Given the description of an element on the screen output the (x, y) to click on. 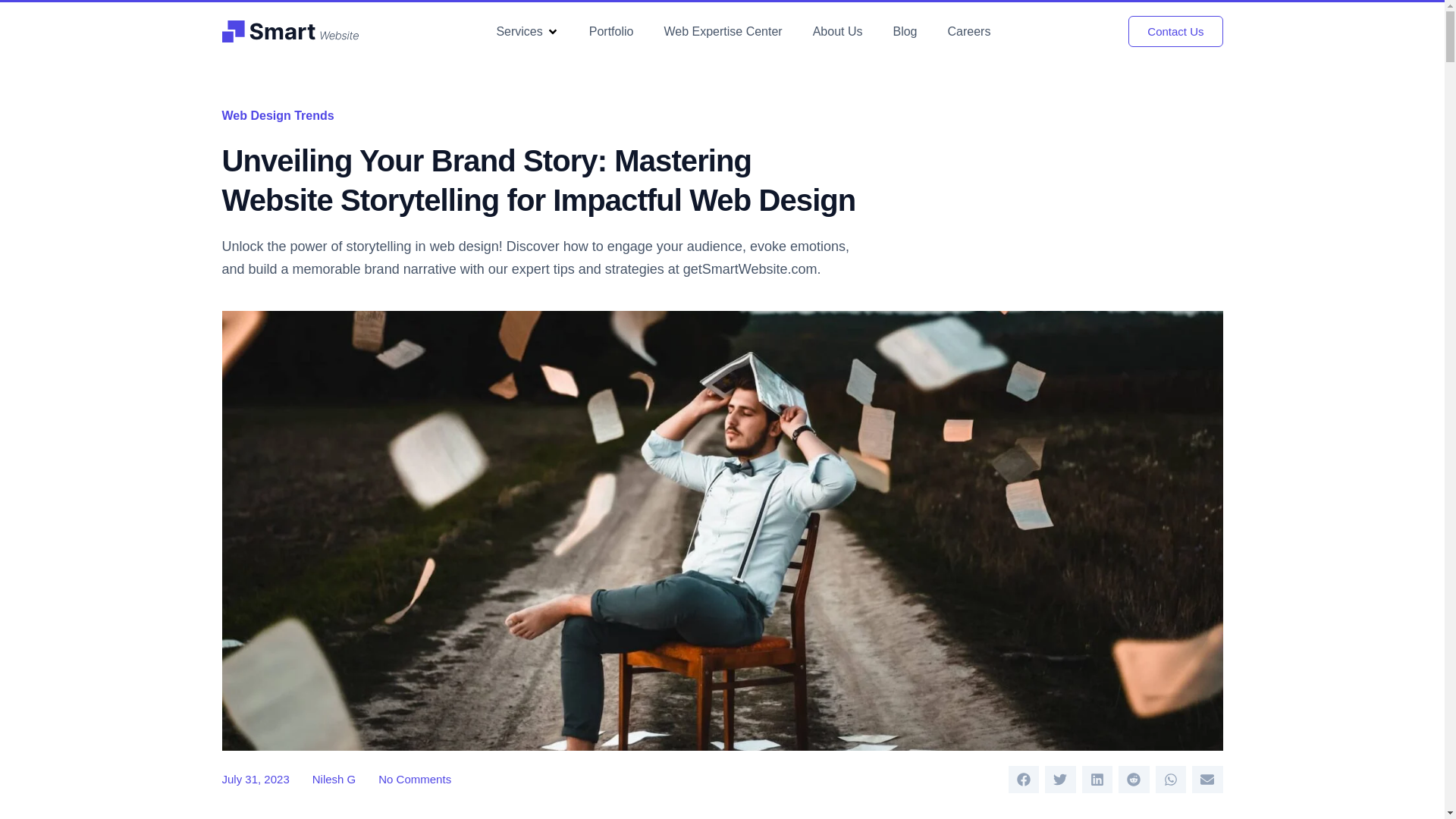
Web Design Trends (277, 115)
Blog (904, 30)
Portfolio (611, 30)
Careers (969, 30)
Services (518, 30)
No Comments (414, 779)
Web Expertise Center (722, 30)
Contact Us (1175, 30)
About Us (837, 30)
